Given the description of an element on the screen output the (x, y) to click on. 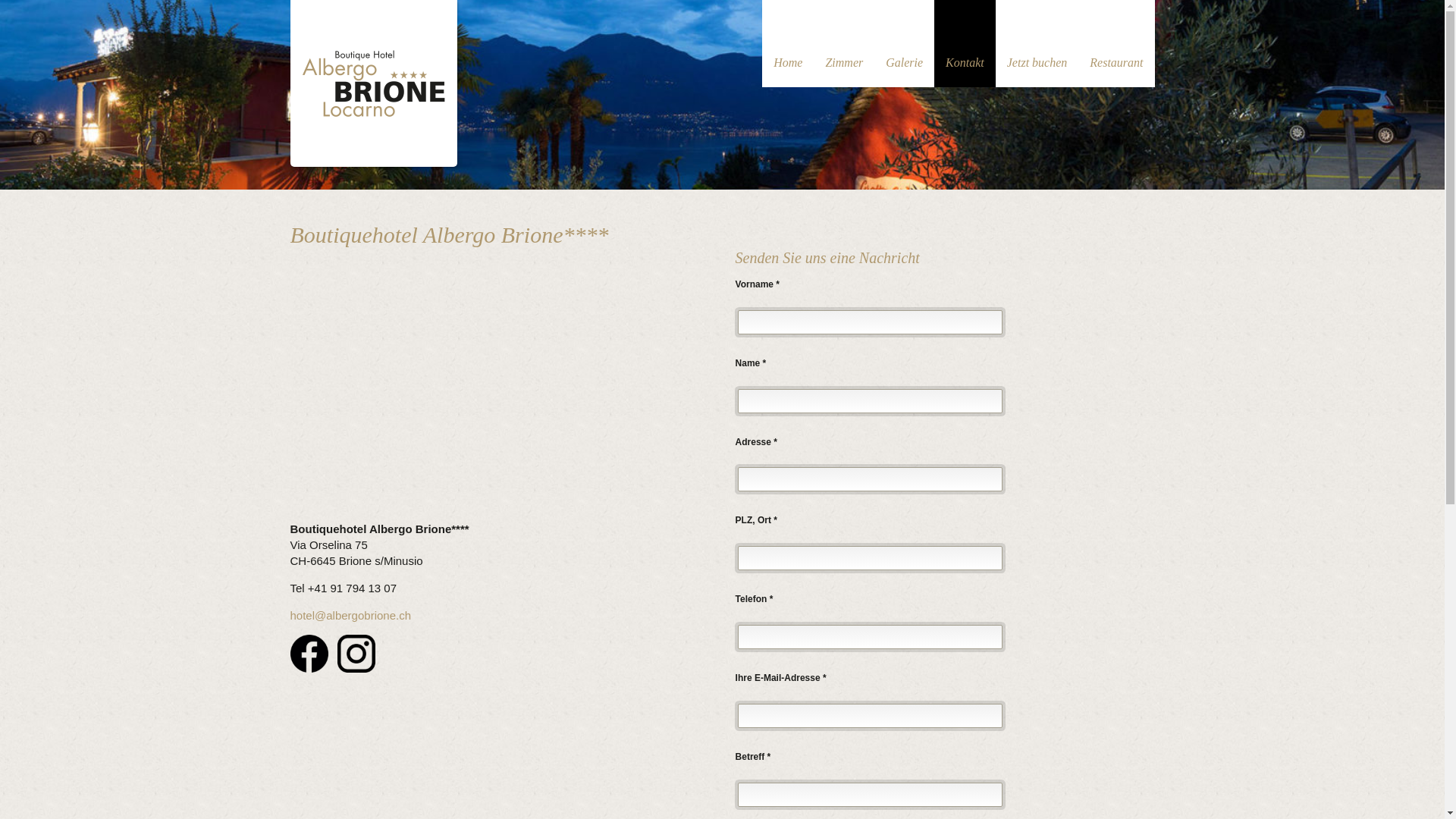
hotel@albergobrione.ch Element type: text (350, 614)
Jetzt buchen Element type: text (1037, 43)
Zimmer Element type: text (843, 43)
Albergo Brione Element type: hover (372, 80)
Restaurant Element type: text (1116, 43)
Kontakt Element type: text (964, 43)
Home Element type: text (787, 43)
Galerie Element type: text (904, 43)
